Given the description of an element on the screen output the (x, y) to click on. 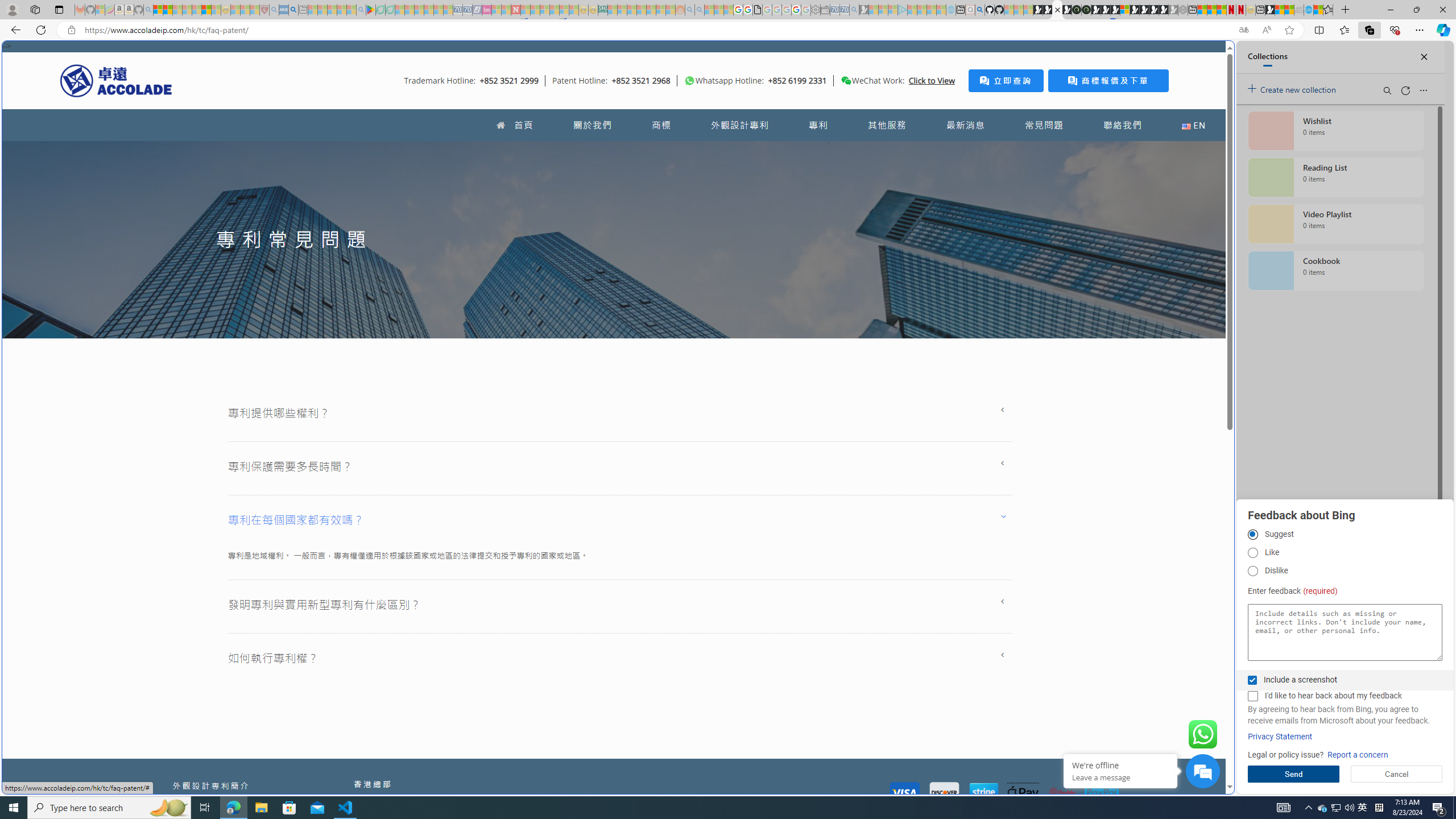
utah sues federal government - Search (292, 9)
